Given the description of an element on the screen output the (x, y) to click on. 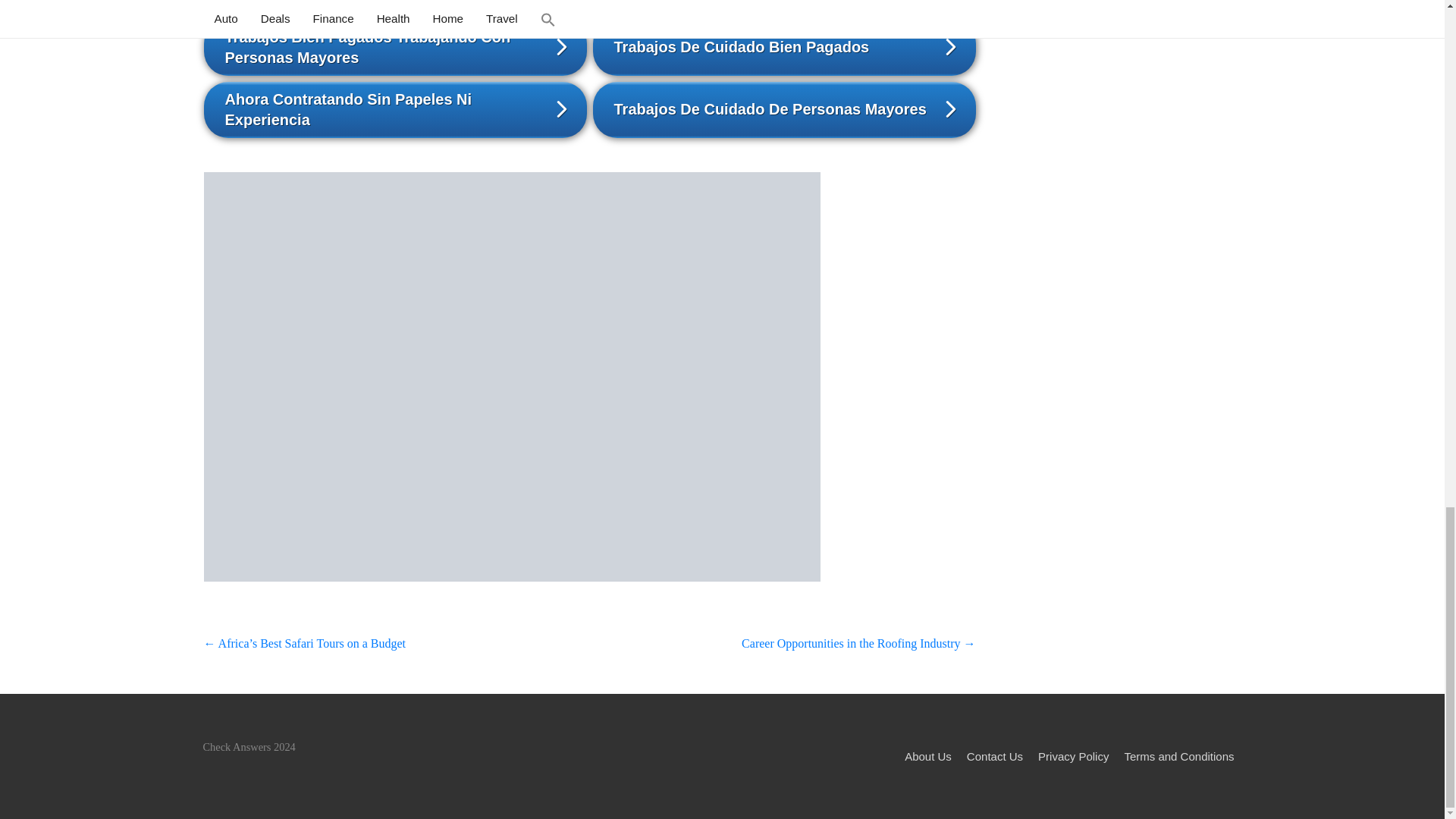
Ahora Contratando Sin Papeles Ni Experiencia (394, 109)
Trabajos De Cuidado Bien Pagados (783, 47)
Contact Us (994, 756)
About Us (927, 756)
Trabajos Bien Pagados Trabajando Con Personas Mayores (394, 47)
Terms and Conditions (1178, 756)
Trabajos De Cuidado De Personas Mayores (783, 109)
Privacy Policy (1073, 756)
